Given the description of an element on the screen output the (x, y) to click on. 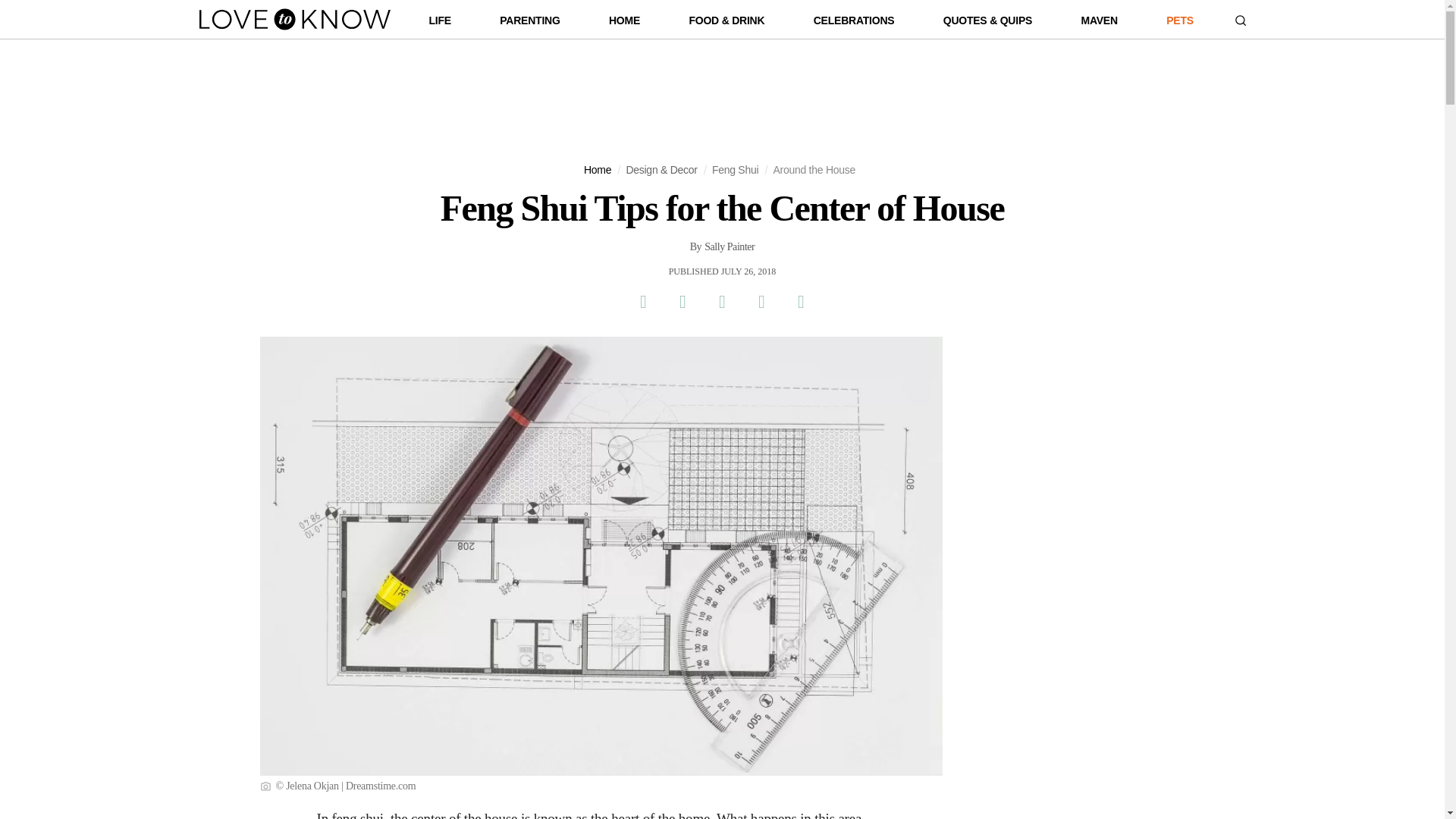
LIFE (439, 23)
Share on Facebook (642, 301)
Share on Twitter (681, 301)
HOME (624, 23)
Share via Email (760, 301)
Copy Link (800, 301)
Share on Pinterest (721, 301)
PARENTING (529, 23)
Sally Painter (729, 247)
3rd party ad content (721, 92)
